Given the description of an element on the screen output the (x, y) to click on. 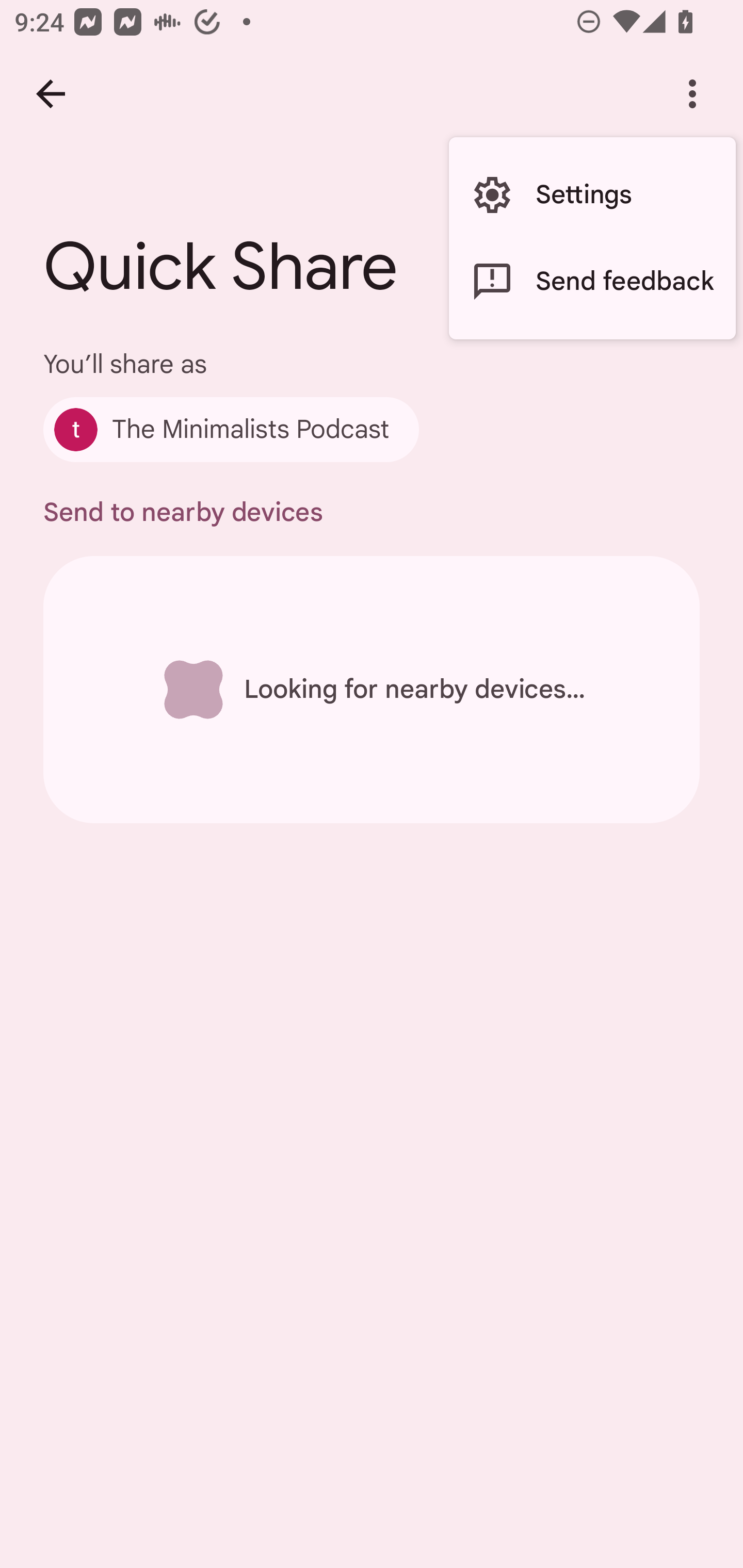
Settings (591, 195)
Send feedback (591, 281)
